Given the description of an element on the screen output the (x, y) to click on. 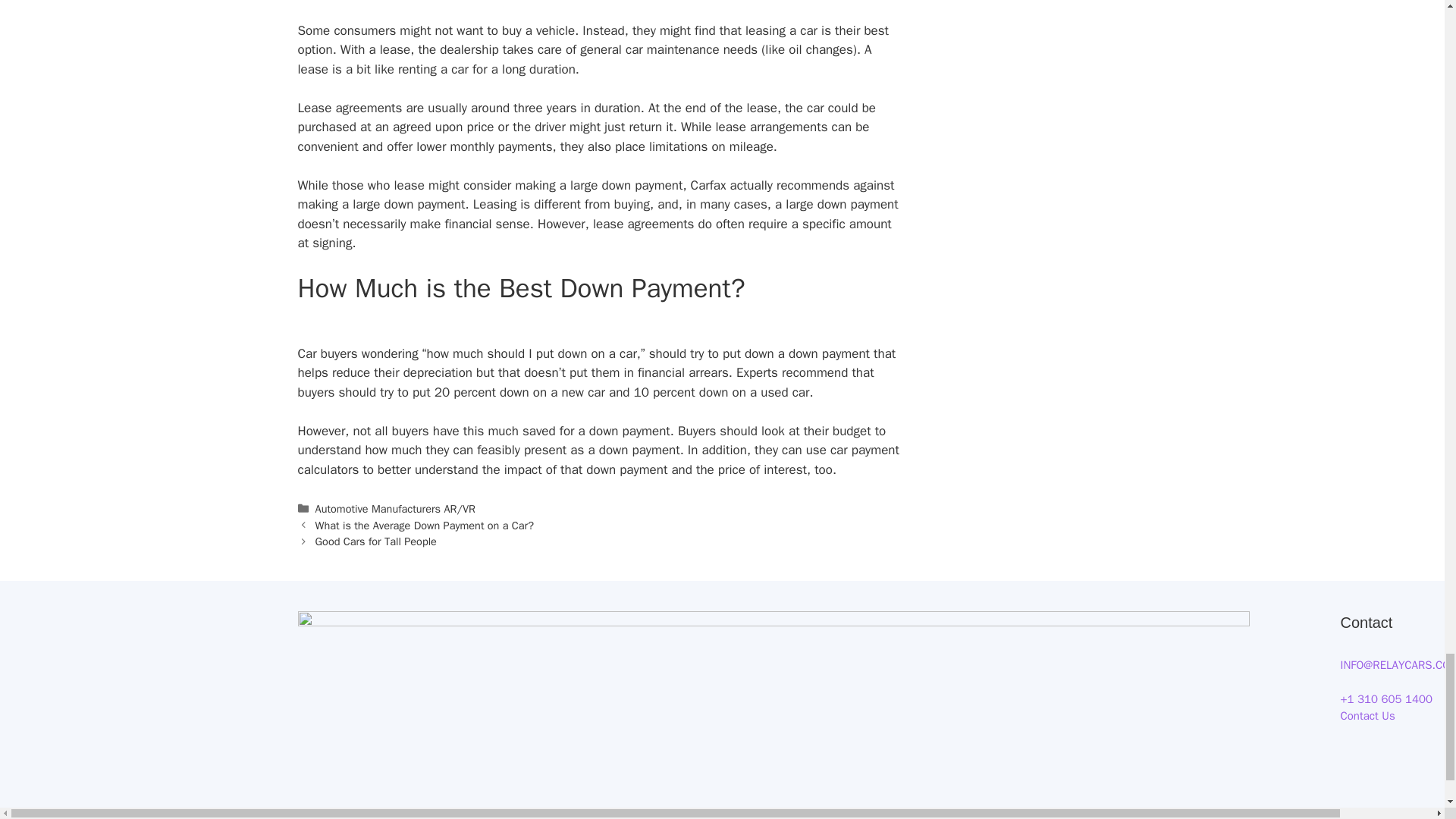
against making a large down payment (595, 194)
What is the Average Down Payment on a Car? (424, 525)
Good Cars for Tall People (375, 540)
